Given the description of an element on the screen output the (x, y) to click on. 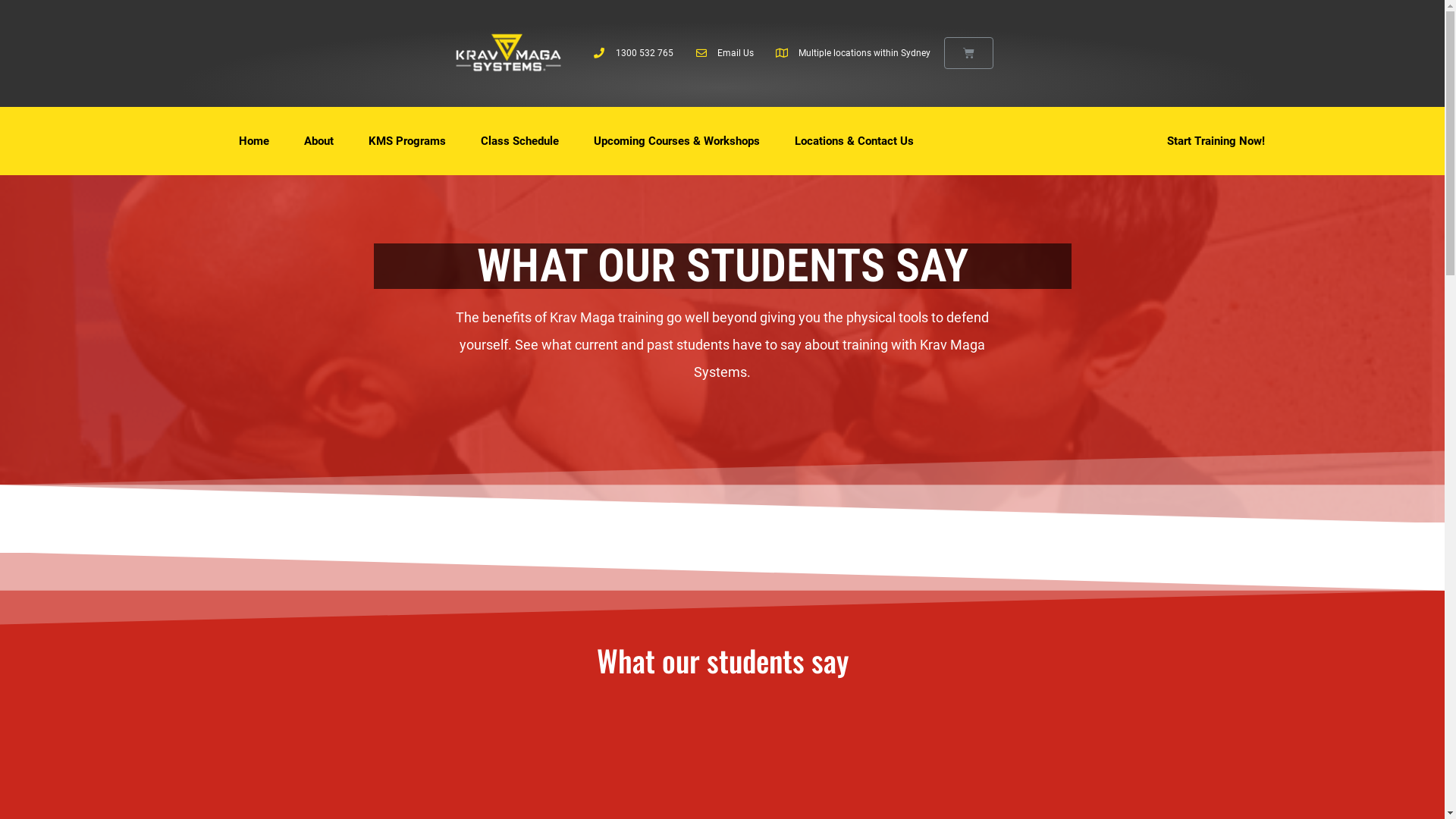
Start Training Now! Element type: text (1215, 140)
Upcoming Courses & Workshops Element type: text (676, 140)
Locations & Contact Us Element type: text (853, 140)
About Element type: text (318, 140)
Home Element type: text (253, 140)
Email Us Element type: text (724, 53)
KMS Programs Element type: text (407, 140)
Multiple locations within Sydney Element type: text (852, 53)
Class Schedule Element type: text (519, 140)
